Given the description of an element on the screen output the (x, y) to click on. 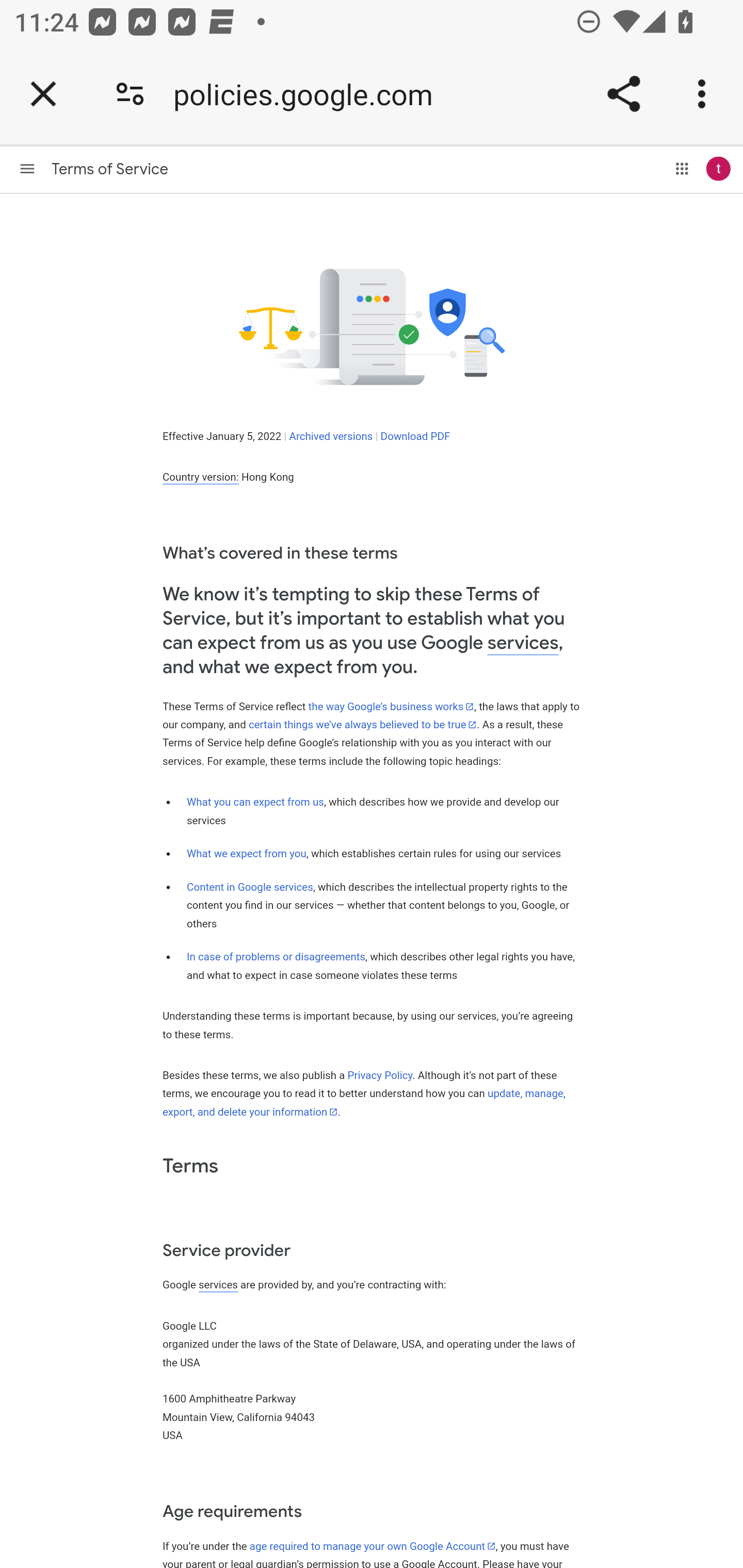
Close tab (43, 93)
Share (623, 93)
Customize and control Google Chrome (705, 93)
Connection is secure (129, 93)
policies.google.com (310, 93)
Main menu (27, 168)
Google apps (681, 168)
Archived versions (330, 436)
Download PDF (415, 436)
Country version: (200, 477)
services (523, 642)
the way Google’s business works (391, 706)
certain things we’ve always believed to be true (362, 724)
What you can expect from us (254, 801)
What we expect from you (246, 853)
Content in Google services (249, 887)
In case of problems or disagreements (275, 957)
Privacy Policy (379, 1075)
services (218, 1284)
age required to manage your own Google Account (372, 1545)
